Given the description of an element on the screen output the (x, y) to click on. 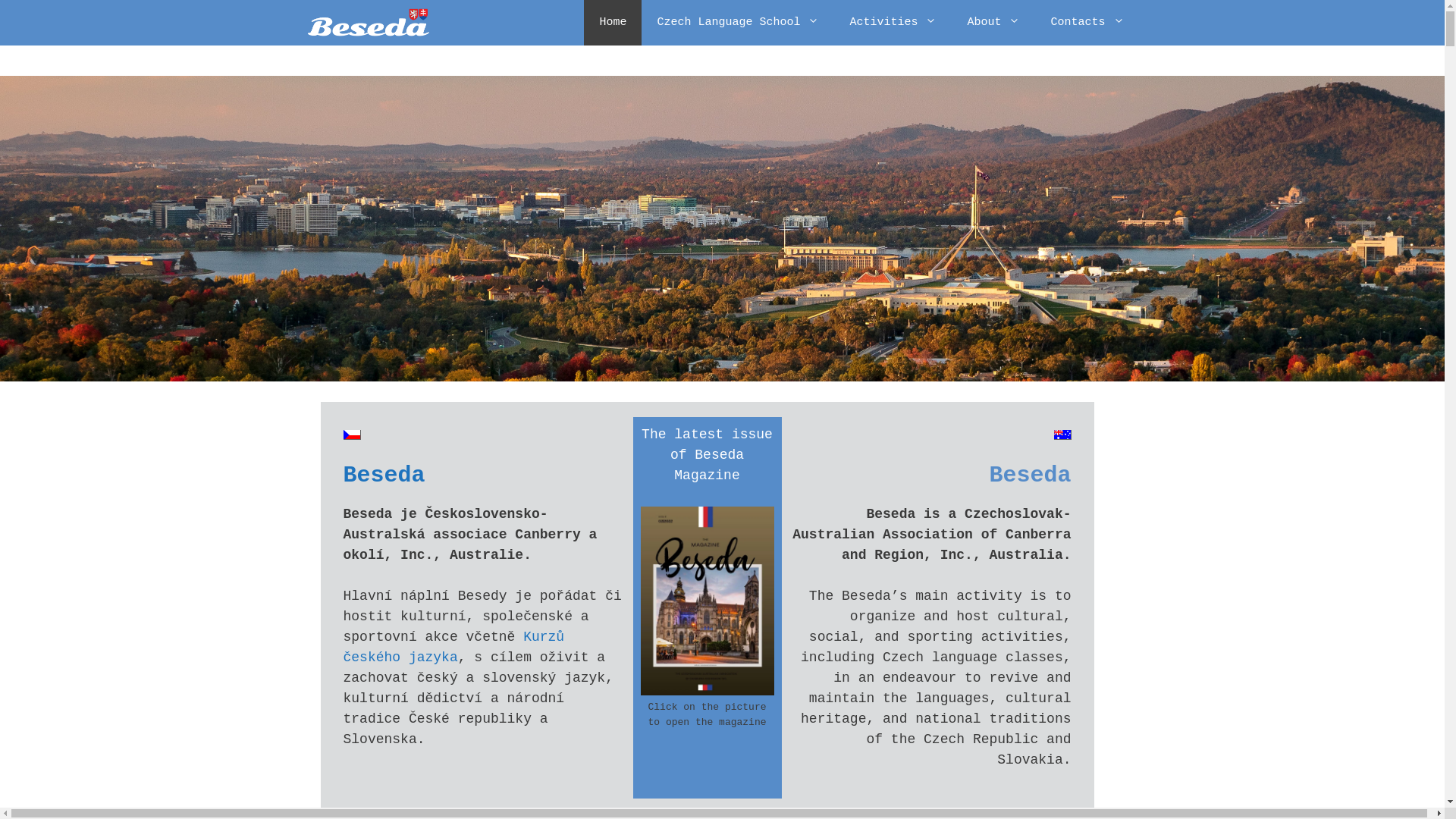
Activities Element type: text (892, 22)
Beseda Element type: hover (367, 22)
About Element type: text (993, 22)
Czech Language School Element type: text (737, 22)
Home Element type: text (612, 22)
Beseda Element type: text (383, 475)
Contacts Element type: text (1087, 22)
